Given the description of an element on the screen output the (x, y) to click on. 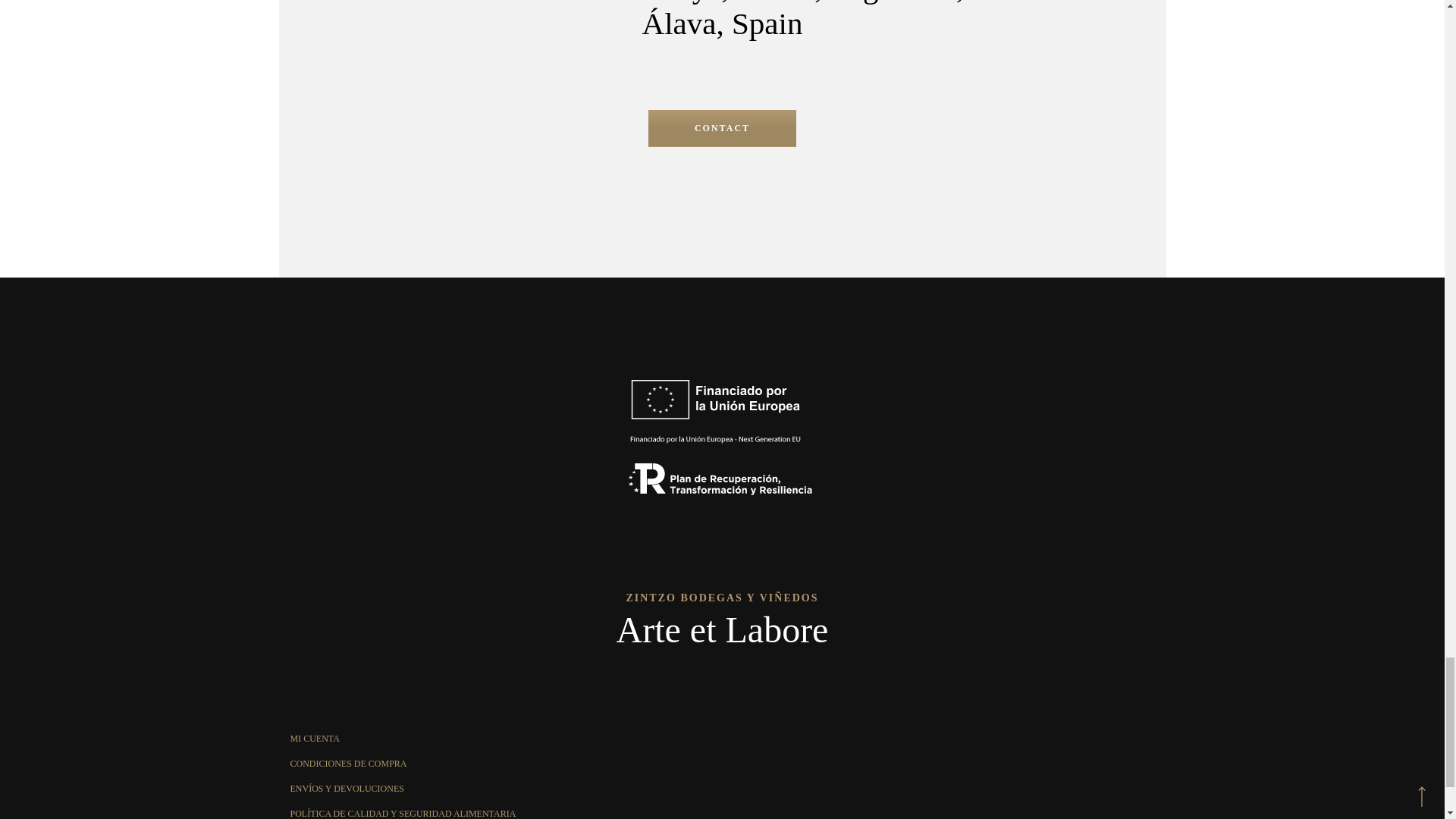
CONTACT (721, 128)
CONDICIONES DE COMPRA (347, 763)
MI CUENTA (314, 738)
